Given the description of an element on the screen output the (x, y) to click on. 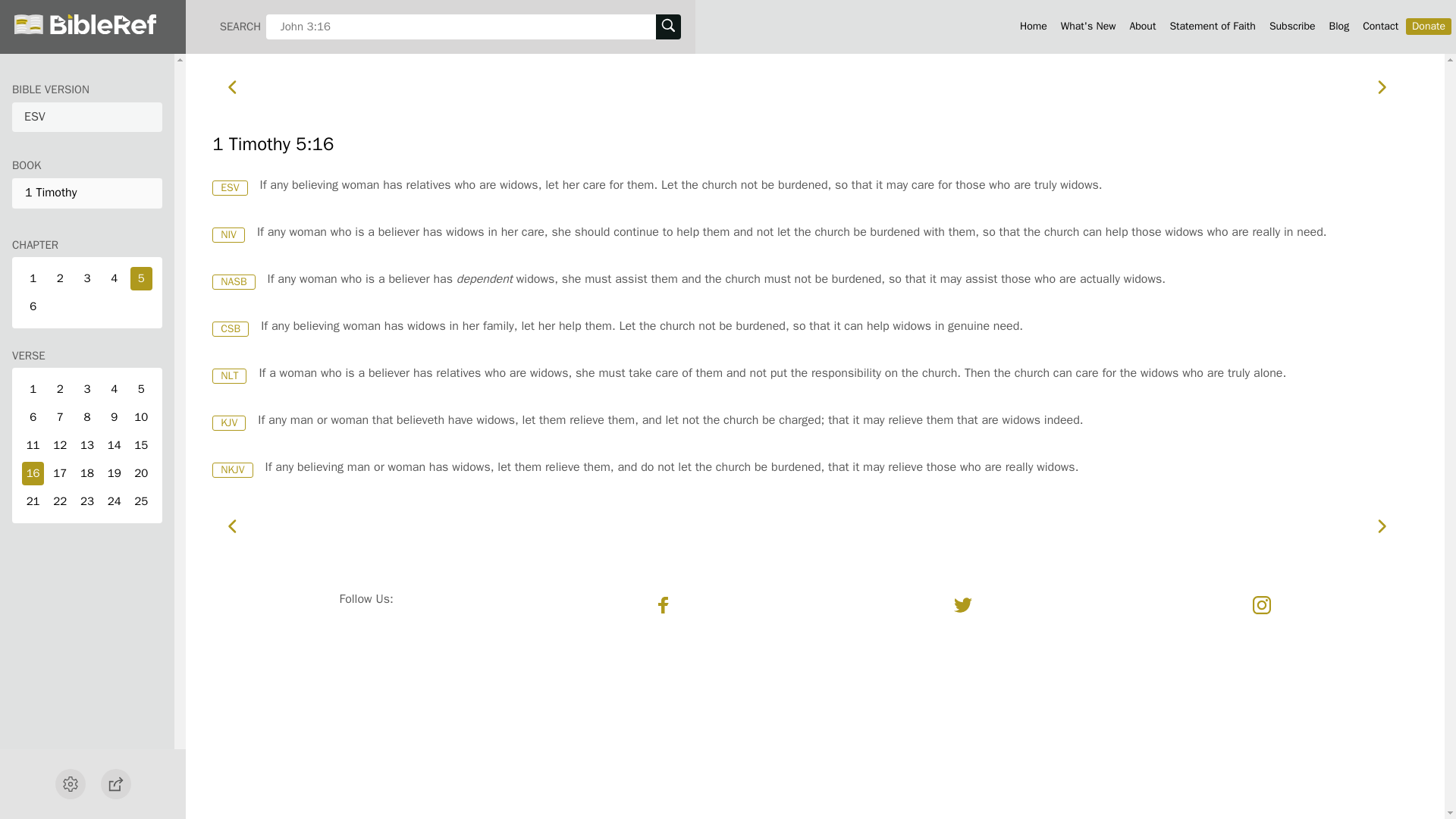
Donate (1428, 26)
1 Timothy (86, 193)
BibleRef.com subscribe (1292, 26)
BibleRef homepage (1032, 26)
Home (1032, 26)
About BibleRef.com (1141, 26)
Contact (1380, 26)
Contact BibleRef.com (1380, 26)
BibleRef.com blog (1339, 26)
Blog (1339, 26)
